Given the description of an element on the screen output the (x, y) to click on. 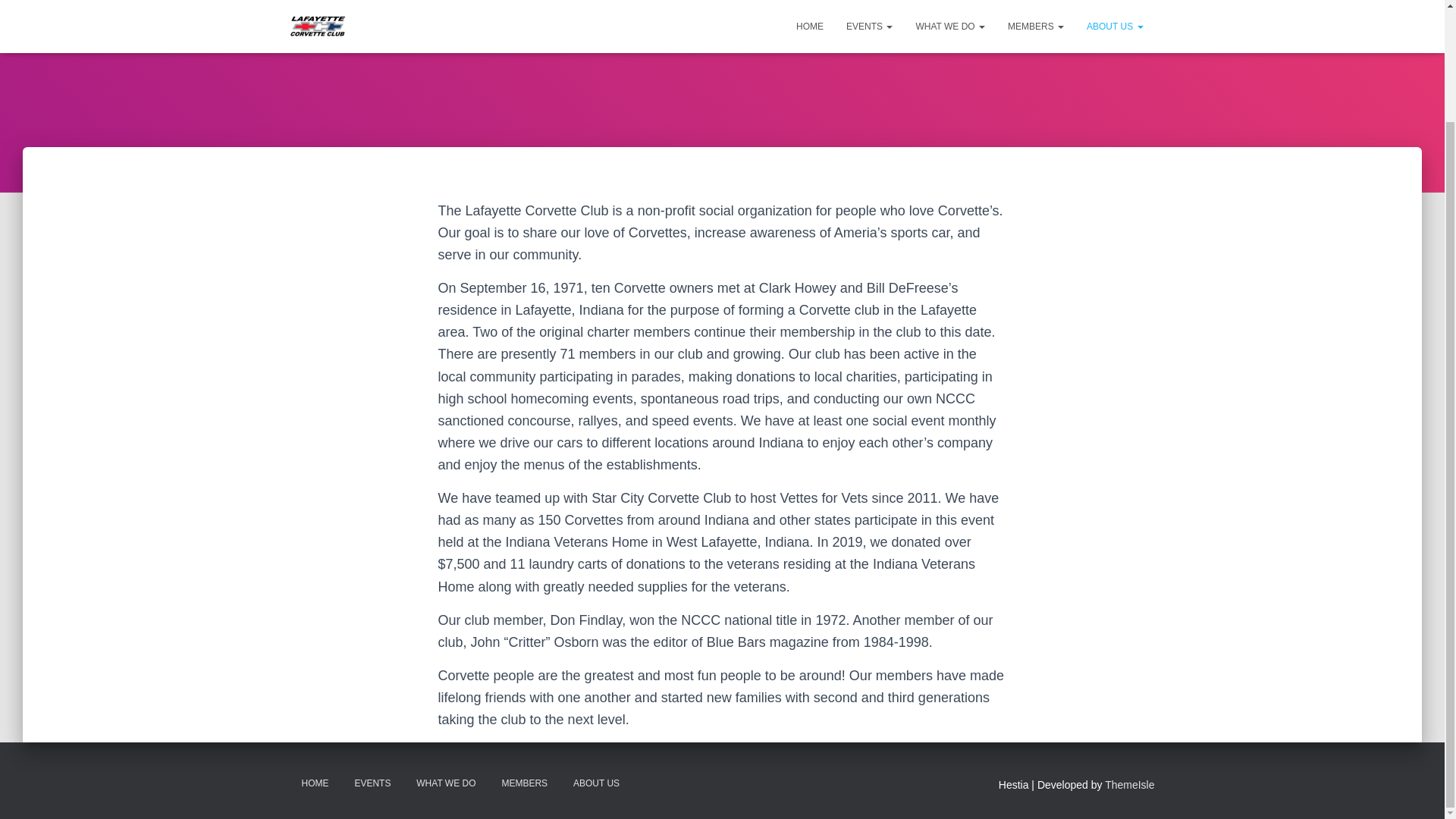
WHAT WE DO (445, 783)
ThemeIsle (1129, 784)
HOME (314, 783)
MEMBERS (524, 783)
EVENTS (371, 783)
ABOUT US (596, 783)
